Given the description of an element on the screen output the (x, y) to click on. 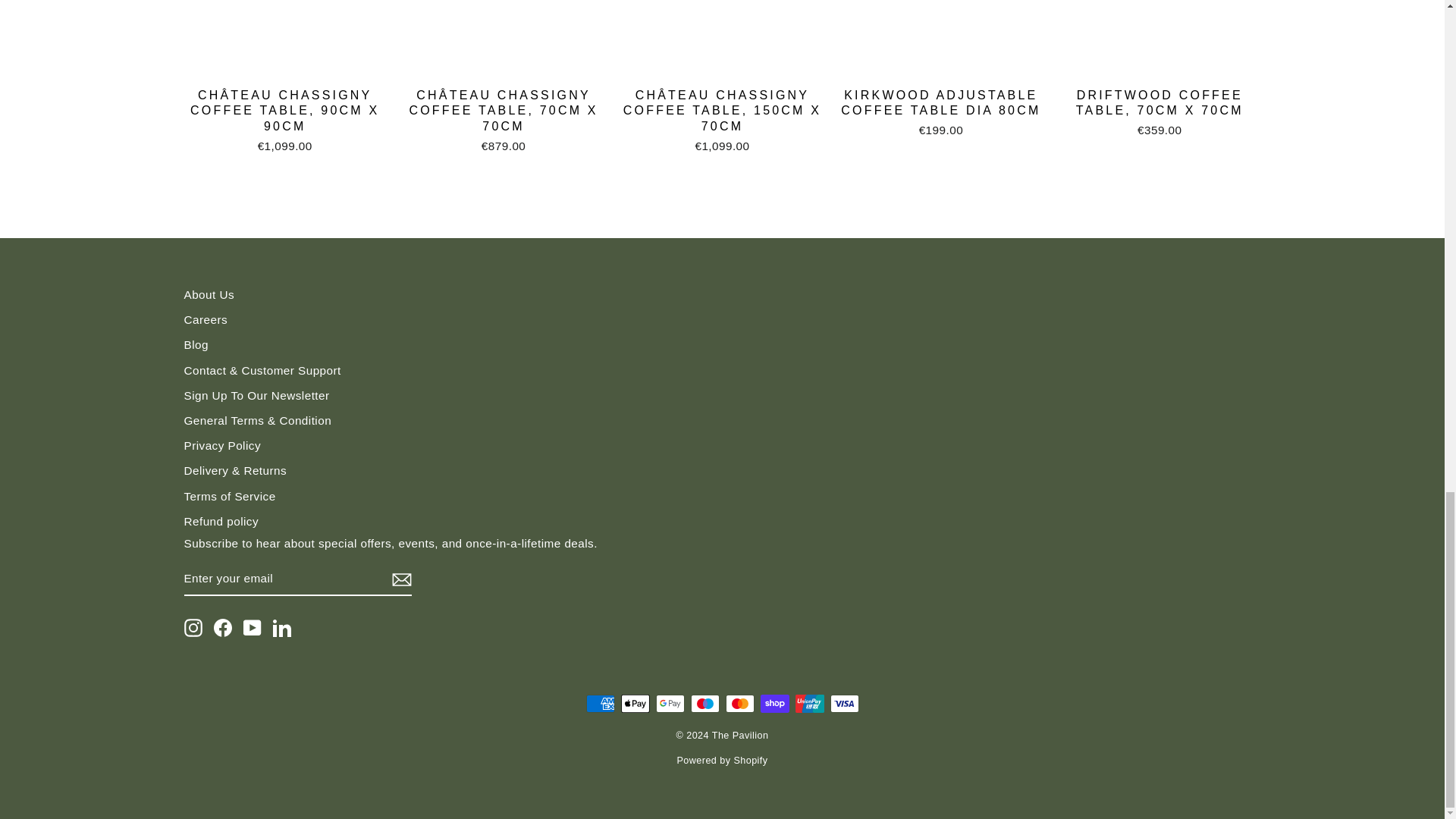
Union Pay (809, 703)
Shop Pay (774, 703)
Visa (844, 703)
Apple Pay (634, 703)
Google Pay (669, 703)
The Pavilion on Instagram (192, 628)
Mastercard (739, 703)
American Express (599, 703)
The Pavilion on YouTube (251, 628)
The Pavilion on LinkedIn (282, 628)
